Given the description of an element on the screen output the (x, y) to click on. 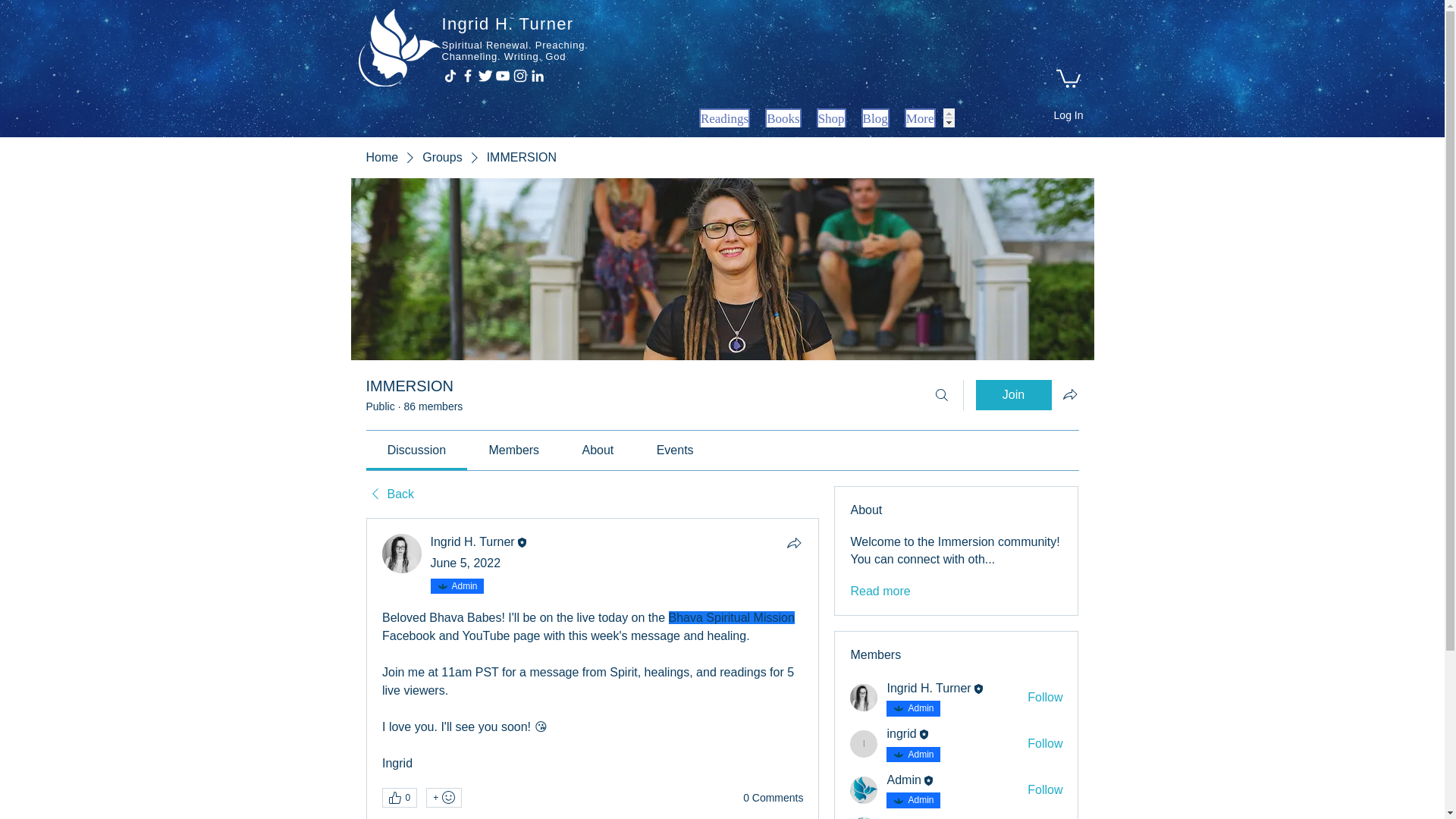
Admin (920, 754)
Ingrid H. Turner (472, 541)
sherri (863, 818)
ingrid (900, 733)
Books (782, 117)
Ingrid H. Turner (472, 541)
Groups (441, 157)
Admin (464, 585)
Spiritual Renewal. Preaching. (514, 44)
Follow (1044, 697)
